Given the description of an element on the screen output the (x, y) to click on. 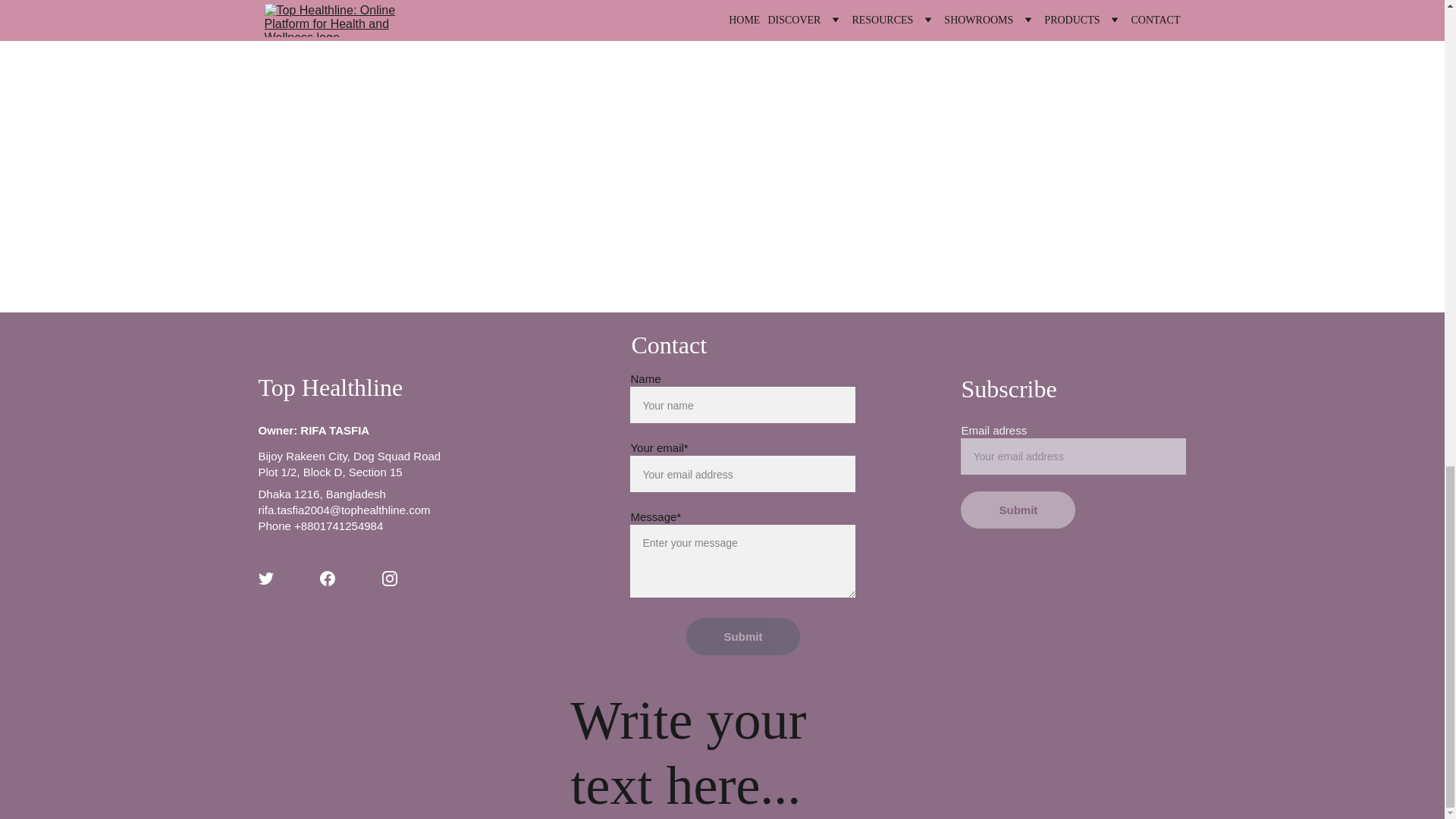
Go to Instagram page (389, 578)
Go to Facebook page (327, 578)
Go to Twitter page (265, 578)
Submit (1017, 509)
Submit (742, 636)
